Given the description of an element on the screen output the (x, y) to click on. 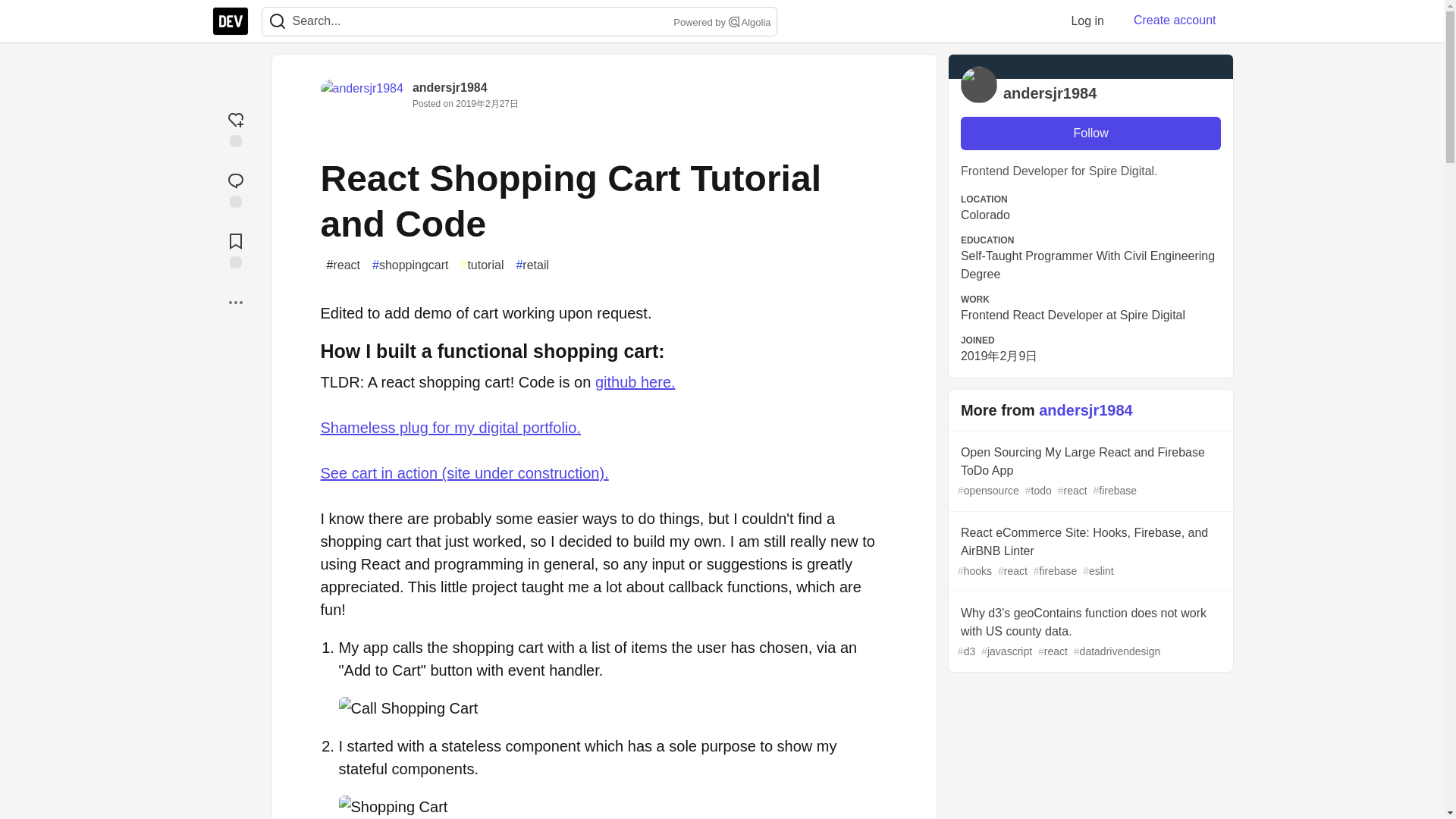
github here. (635, 381)
More... (234, 302)
Log in (1087, 20)
More... (234, 302)
Create account (1174, 20)
Shameless plug for my digital portfolio. (450, 427)
Powered by Algolia (720, 22)
andersjr1984 (449, 87)
